Given the description of an element on the screen output the (x, y) to click on. 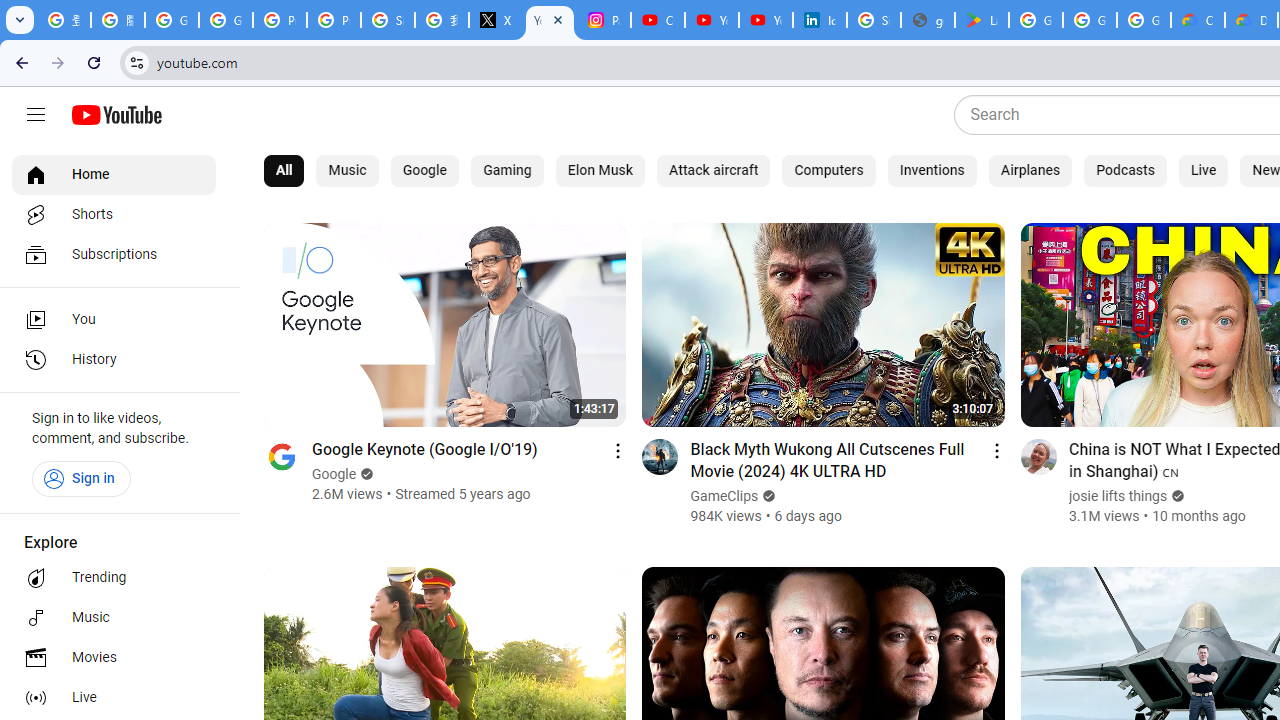
Elon Musk (600, 170)
Guide (35, 115)
All (283, 170)
Airplanes (1030, 170)
Sign in - Google Accounts (874, 20)
Live (1202, 170)
